Given the description of an element on the screen output the (x, y) to click on. 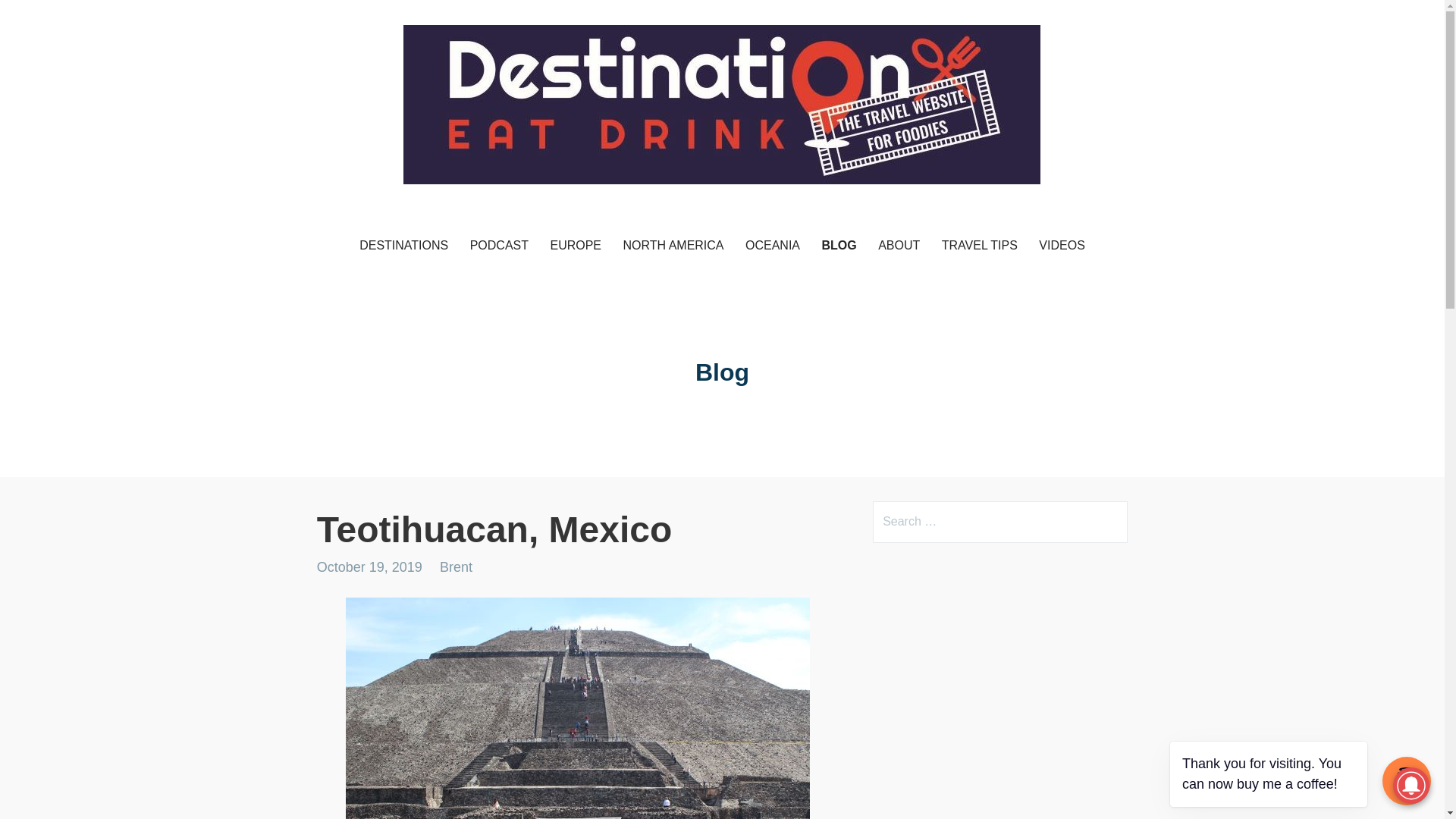
ABOUT (898, 246)
VIDEOS (1061, 246)
Destination Eat Drink - The Travel Site for Foodies (599, 212)
OCEANIA (772, 246)
TRAVEL TIPS (979, 246)
DESTINATIONS (403, 246)
PODCAST (499, 246)
Brent (455, 566)
BLOG (838, 246)
EUROPE (575, 246)
NORTH AMERICA (672, 246)
Posts by Brent (455, 566)
